Given the description of an element on the screen output the (x, y) to click on. 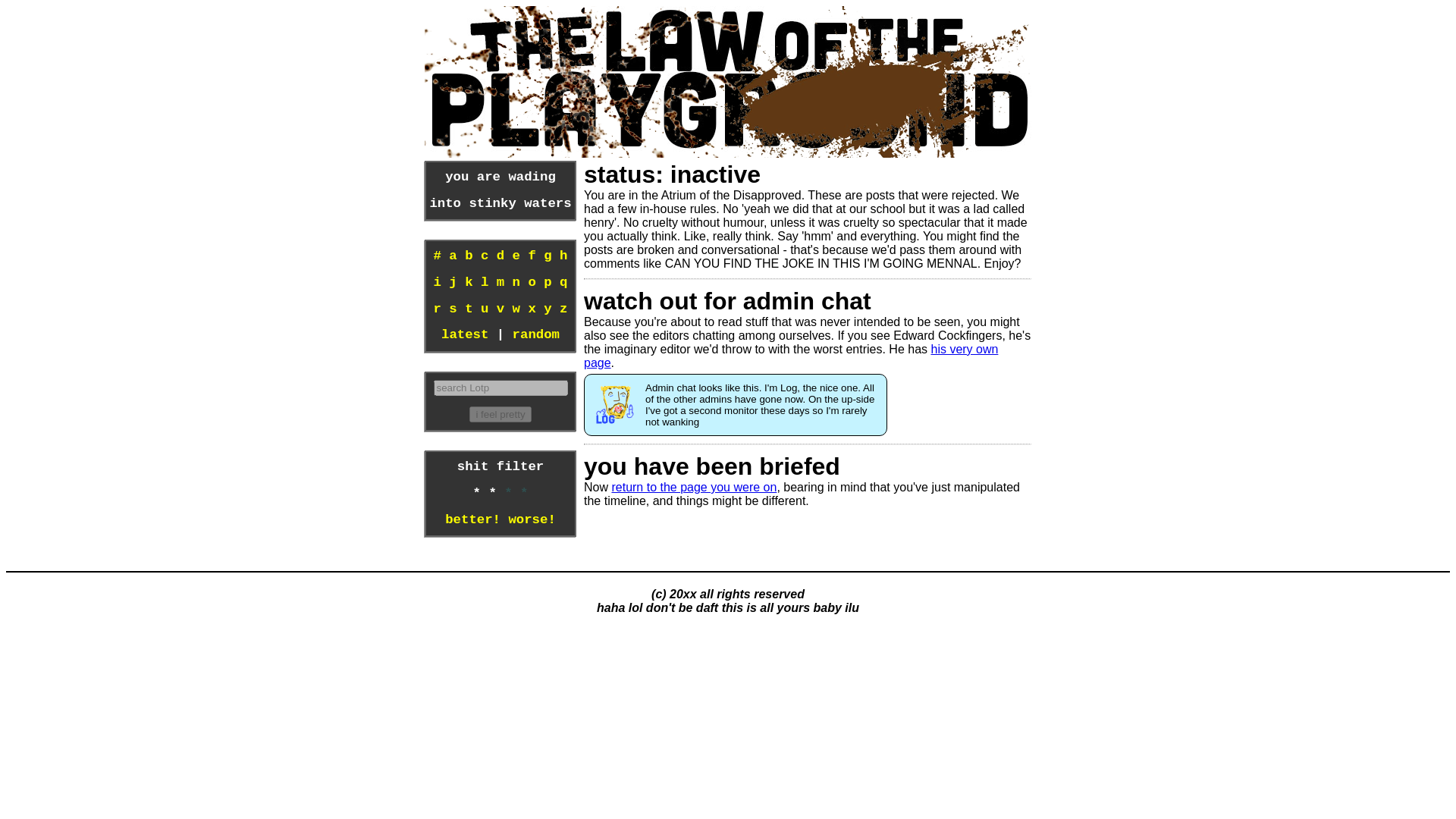
v (499, 309)
his very own page (790, 356)
i feel pretty (499, 414)
o (531, 282)
n (515, 282)
r (437, 309)
x (531, 309)
t (467, 309)
k (467, 282)
q (563, 282)
return to the page you were on (693, 486)
w (515, 309)
z (563, 309)
i feel pretty (499, 414)
g (547, 255)
